Given the description of an element on the screen output the (x, y) to click on. 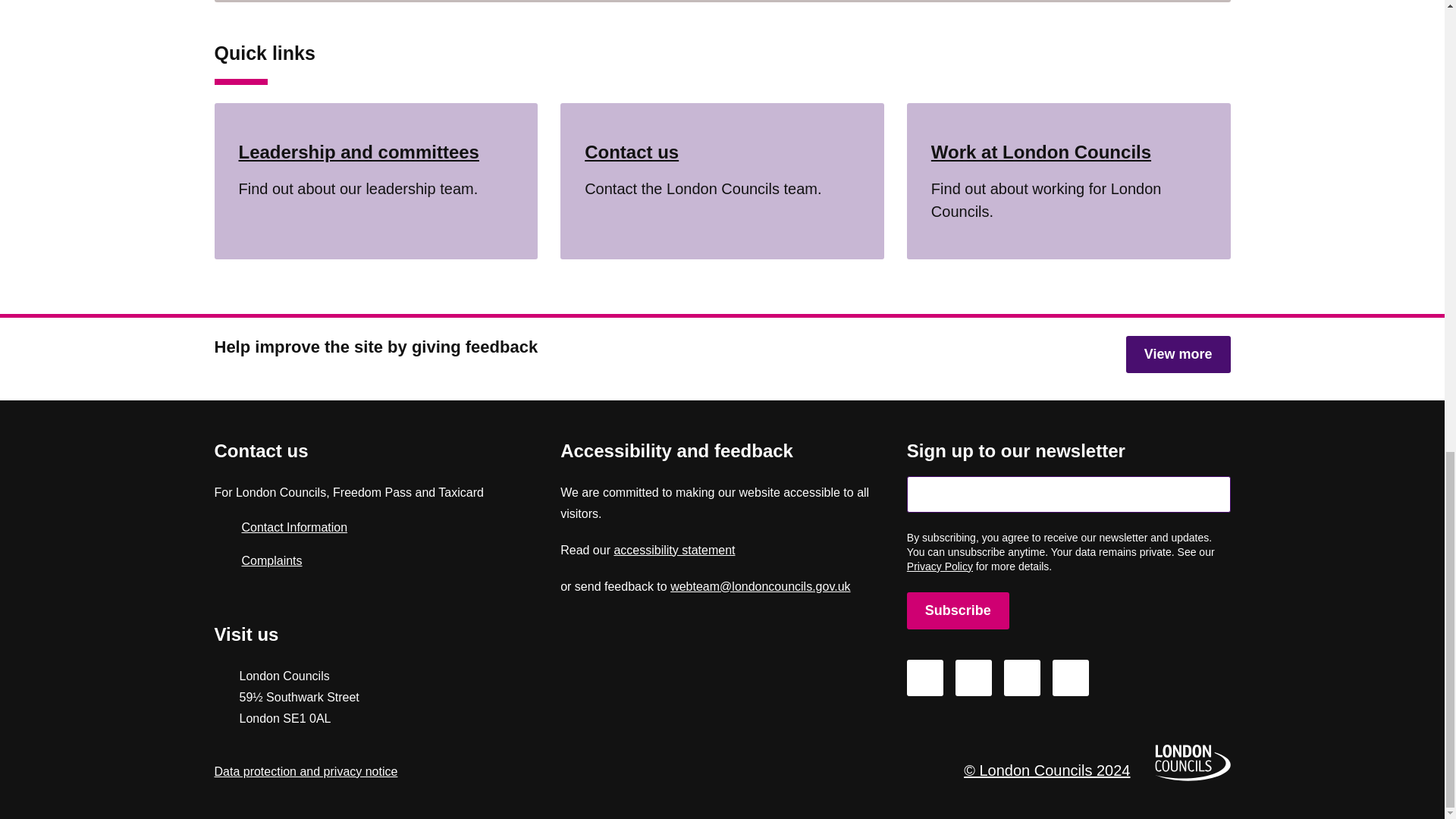
Privacy Policy (939, 566)
twitter (973, 678)
youtube (1070, 678)
Contact Information (364, 527)
Data protection and privacy notice (721, 181)
Complaints (305, 771)
Subscribe (364, 561)
facebook (958, 610)
Subscribe (925, 678)
accessibility statement (958, 610)
View more (673, 549)
linkedin (1177, 354)
